Given the description of an element on the screen output the (x, y) to click on. 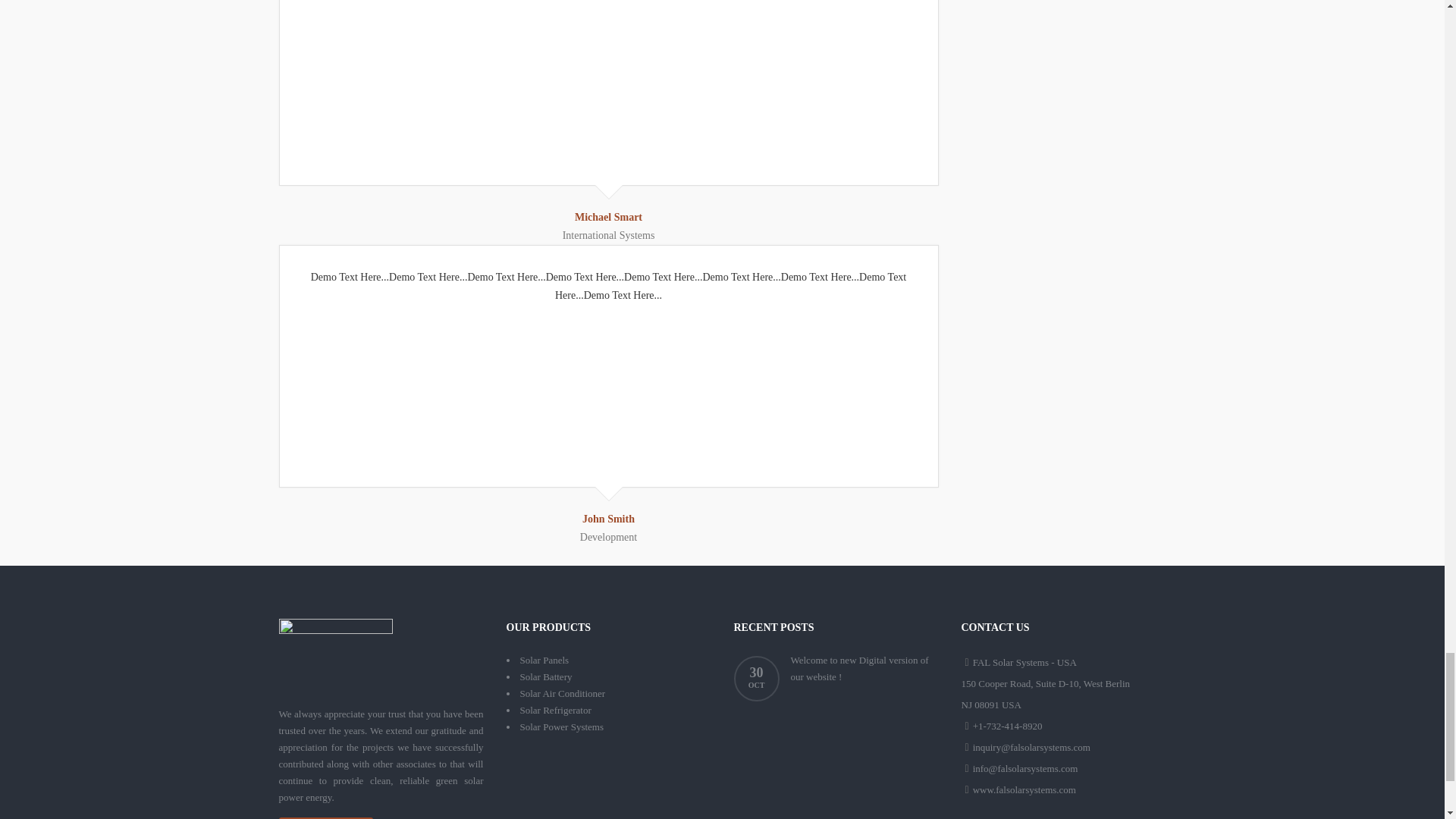
Solar Battery (545, 676)
READ MORE (326, 818)
Solar Air Conditioner (562, 693)
Solar Panels (544, 659)
